Given the description of an element on the screen output the (x, y) to click on. 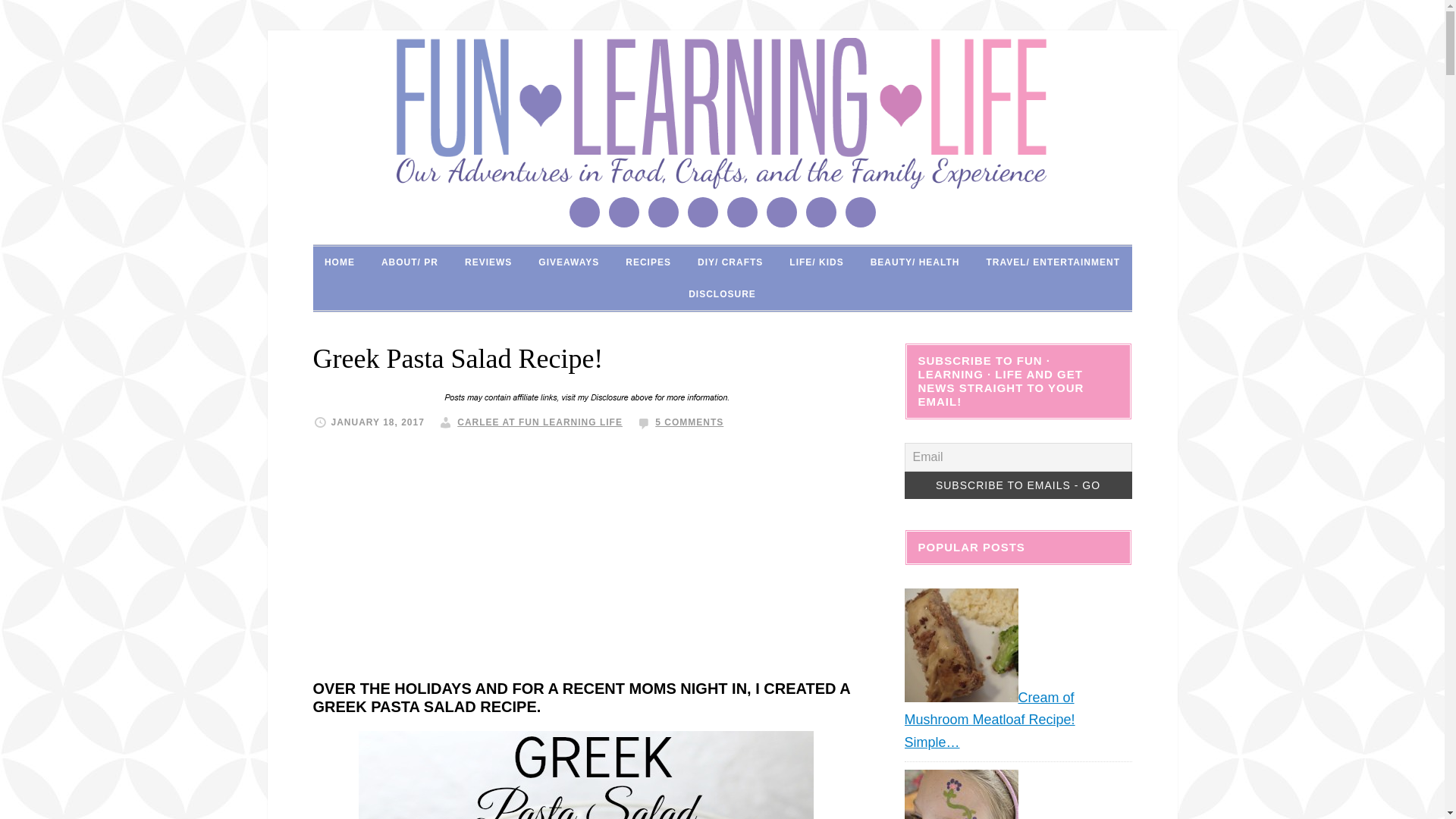
Twitter (820, 212)
Email (583, 212)
Home (339, 262)
Facebook (623, 212)
REVIEWS (487, 262)
YouTube (859, 212)
DISCLOSURE (722, 294)
Reviews (487, 262)
GIVEAWAYS (568, 262)
Giveaways (568, 262)
